Given the description of an element on the screen output the (x, y) to click on. 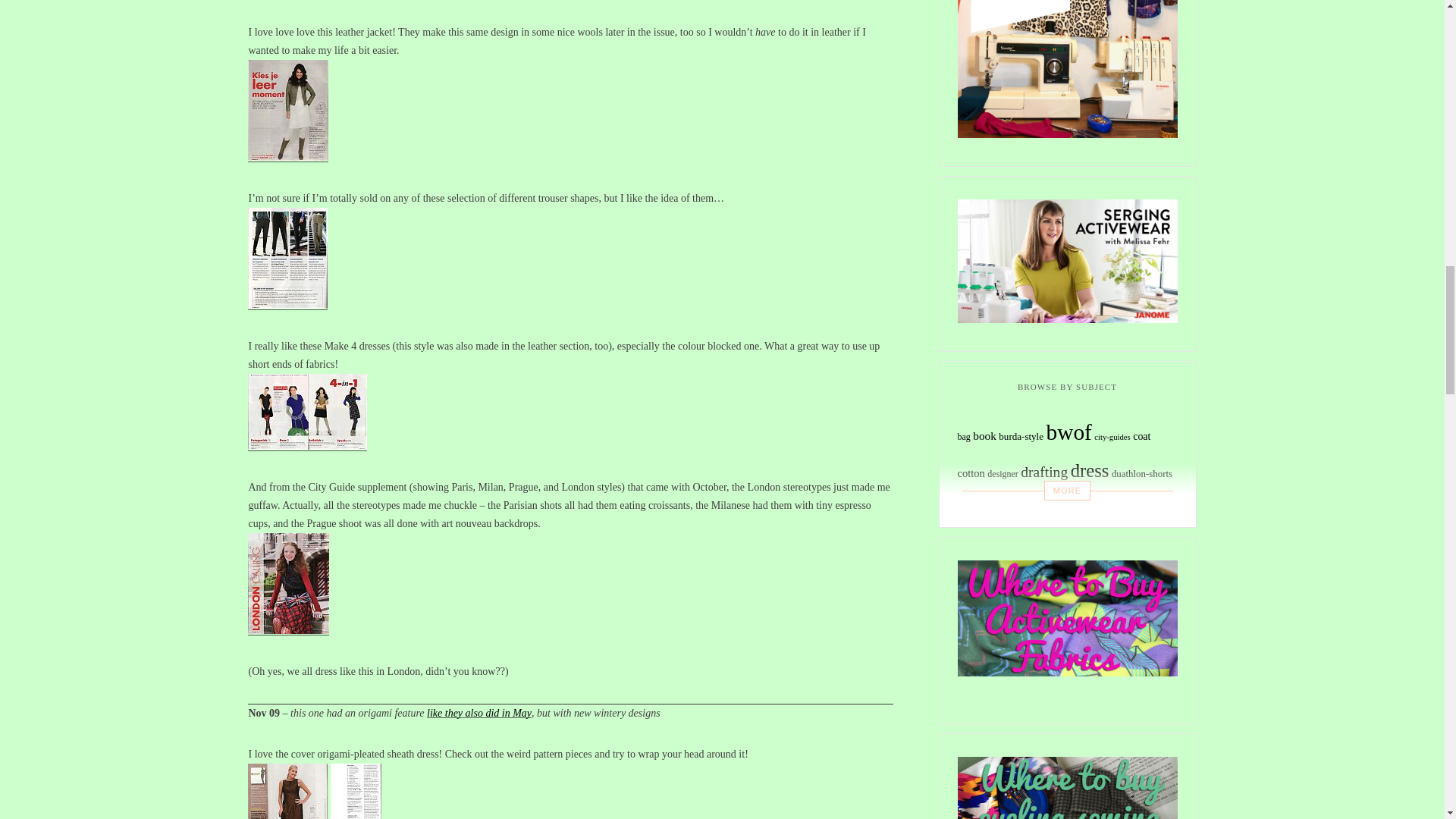
like they also did in May (478, 713)
